Given the description of an element on the screen output the (x, y) to click on. 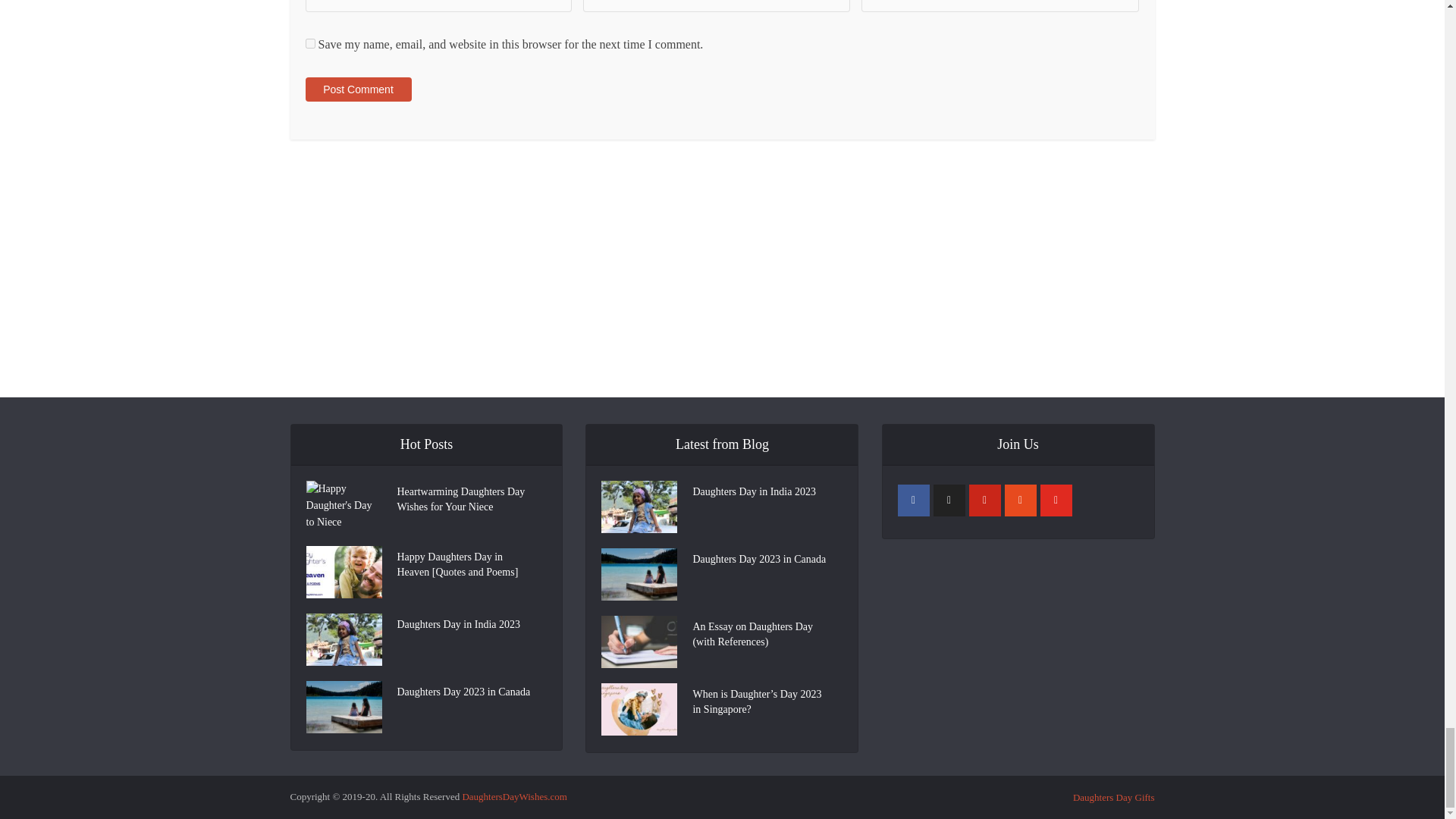
Post Comment (357, 88)
yes (309, 43)
